Given the description of an element on the screen output the (x, y) to click on. 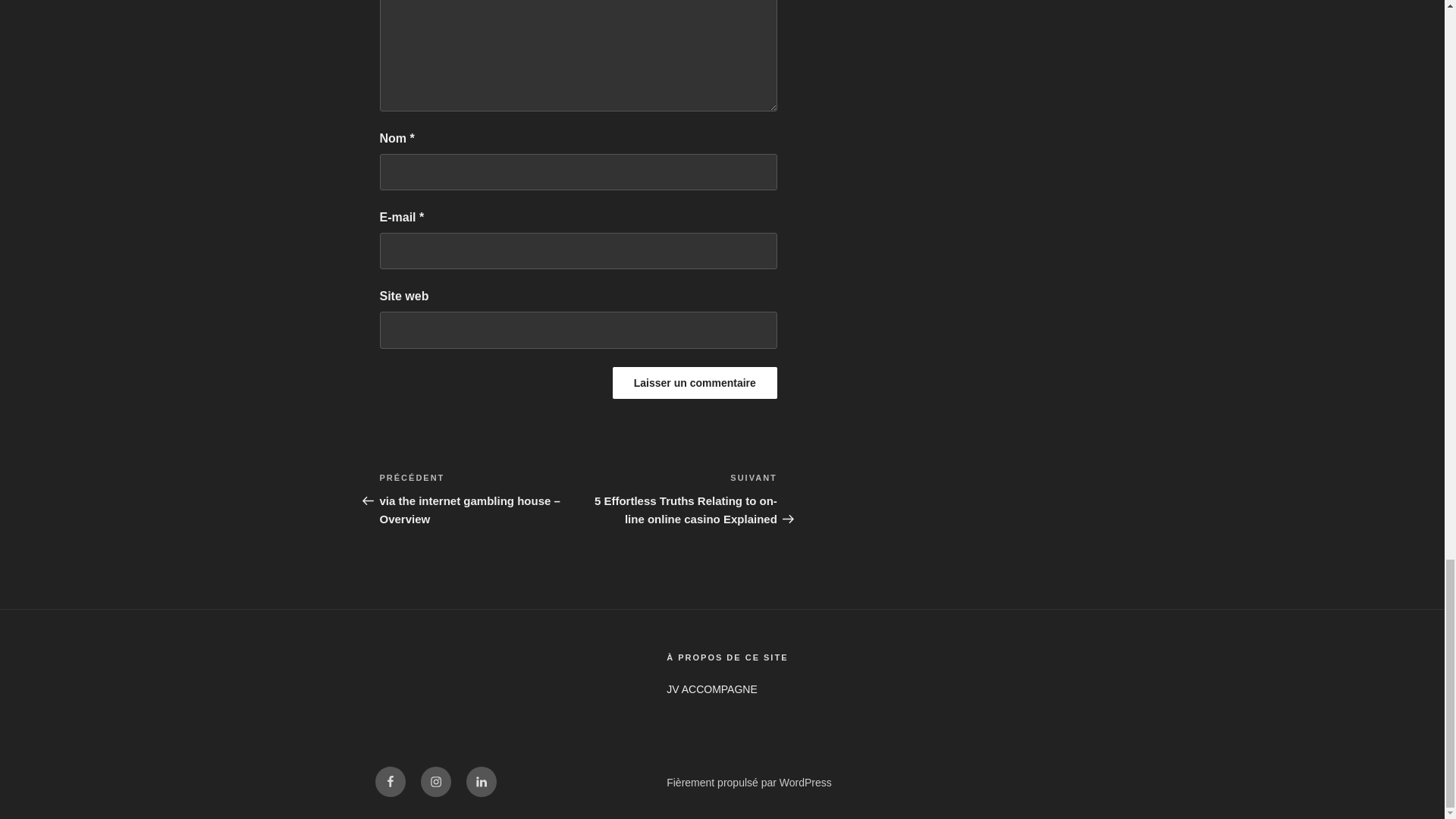
Instagram (435, 781)
Facebook (389, 781)
Laisser un commentaire (694, 382)
LinKedin (480, 781)
Laisser un commentaire (694, 382)
